Given the description of an element on the screen output the (x, y) to click on. 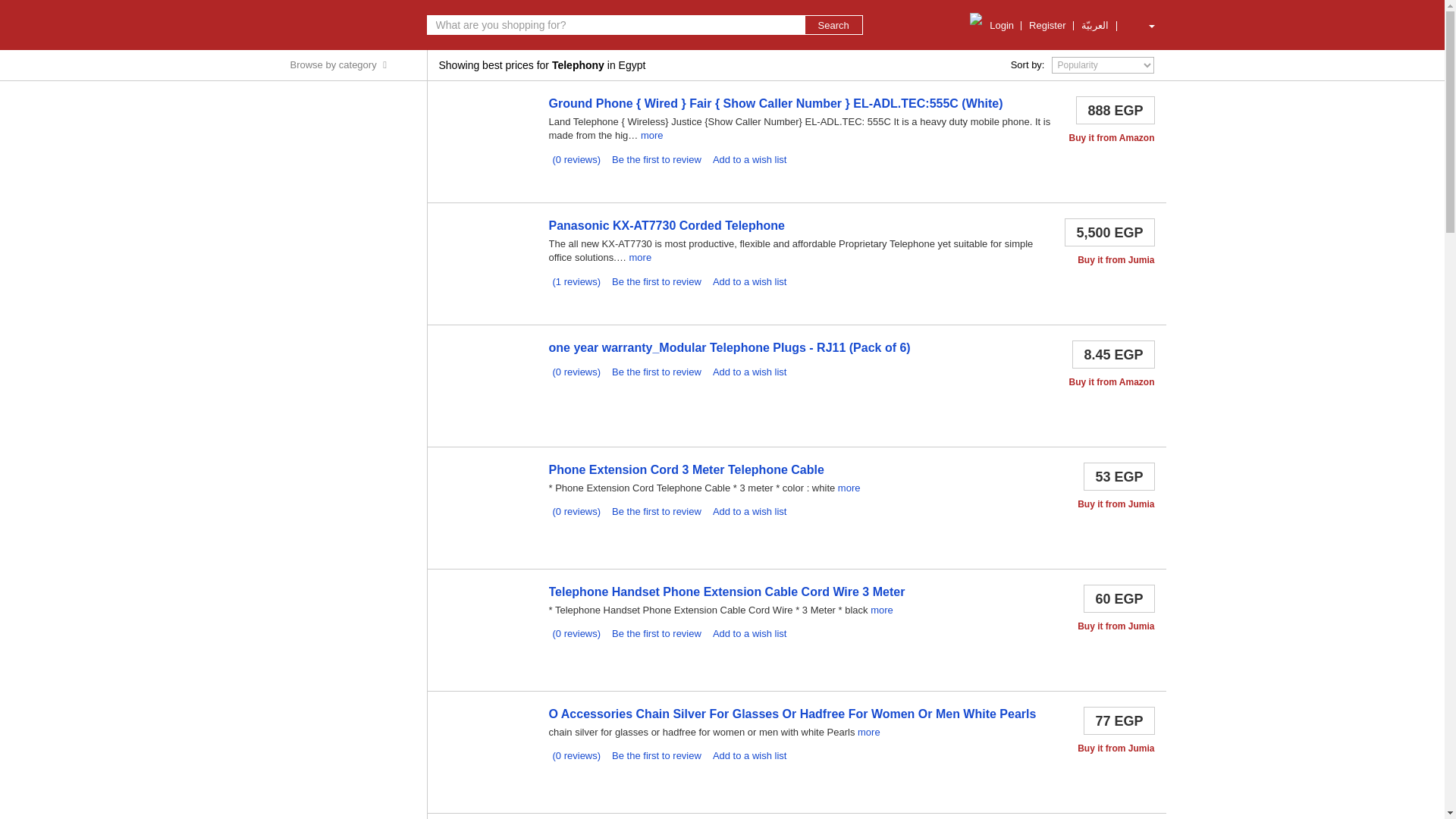
Search (833, 24)
Yaoota! (342, 24)
Register (1047, 25)
Login (1001, 25)
